Given the description of an element on the screen output the (x, y) to click on. 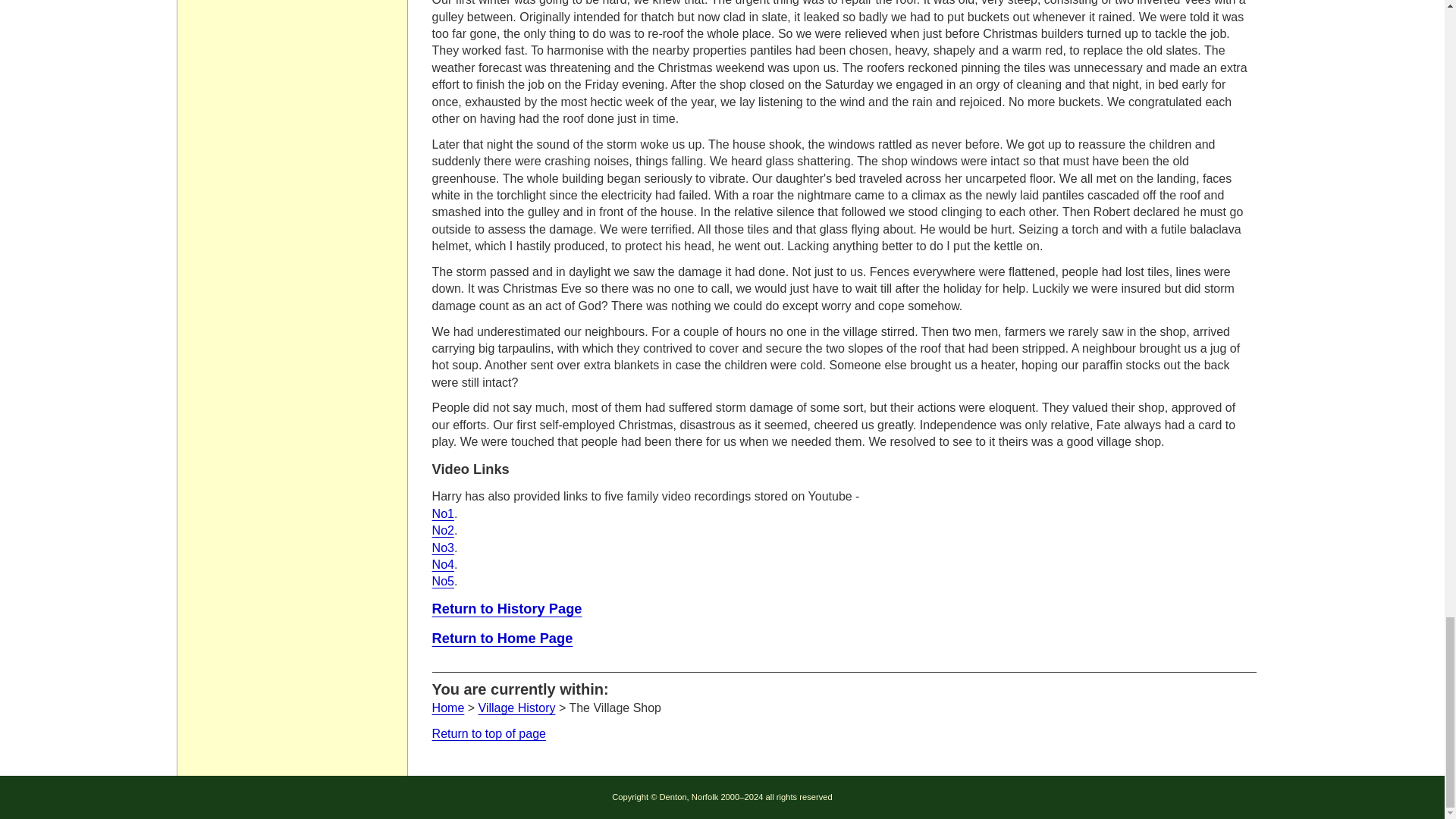
FMS (443, 530)
HISTORY (507, 608)
No1 (443, 513)
Home (448, 707)
FMS (443, 581)
No4 (443, 563)
No5 (443, 581)
Return to top of page (489, 733)
No2 (443, 530)
Return to the Home Page (448, 707)
